Given the description of an element on the screen output the (x, y) to click on. 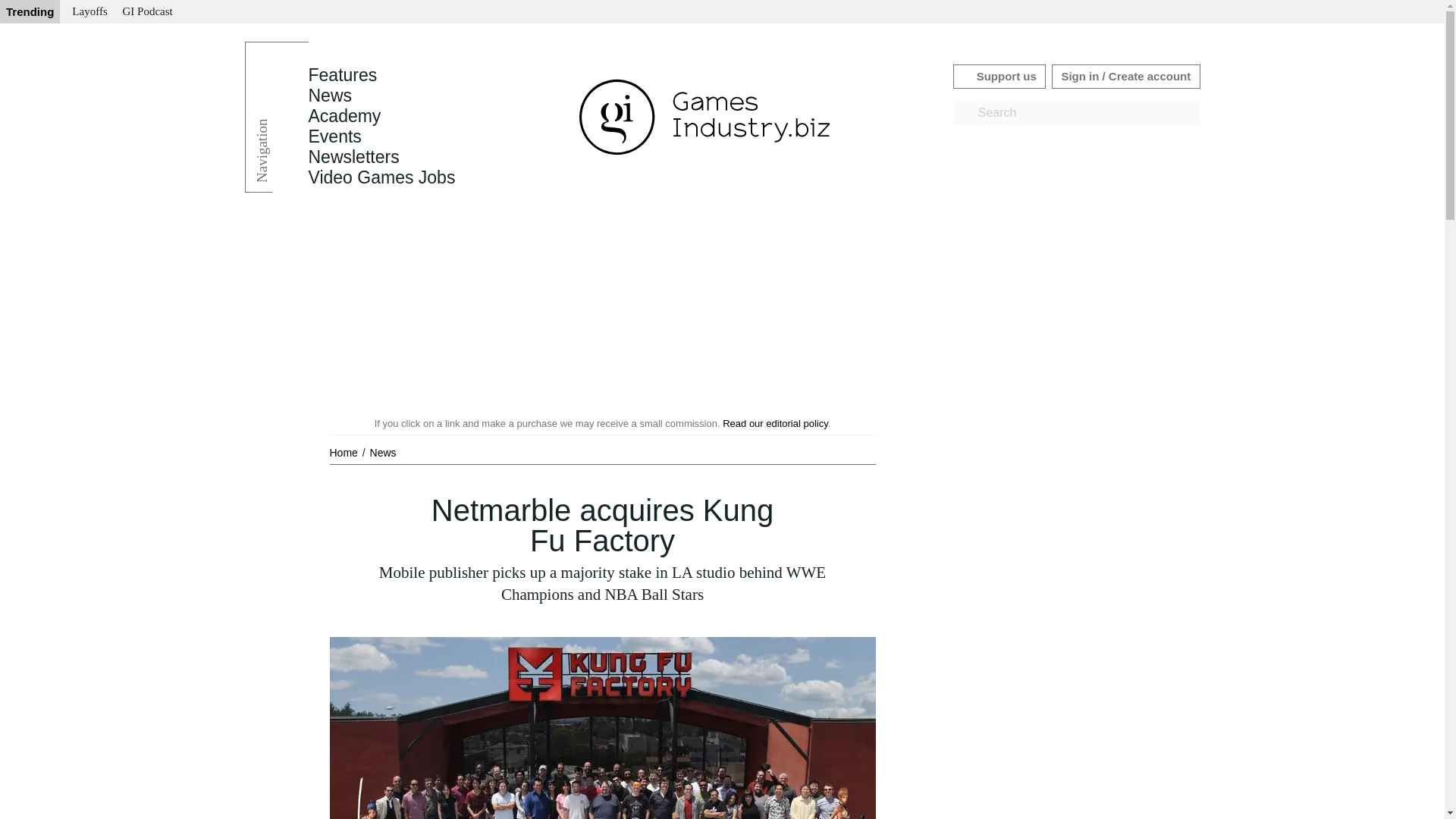
Features (342, 75)
Newsletters (352, 157)
News (329, 95)
News (329, 95)
Academy (343, 116)
GI Sprint Summer 2024 (126, 11)
Academy (343, 116)
Layoffs (214, 11)
Home (344, 452)
Video Games Jobs (380, 177)
